Given the description of an element on the screen output the (x, y) to click on. 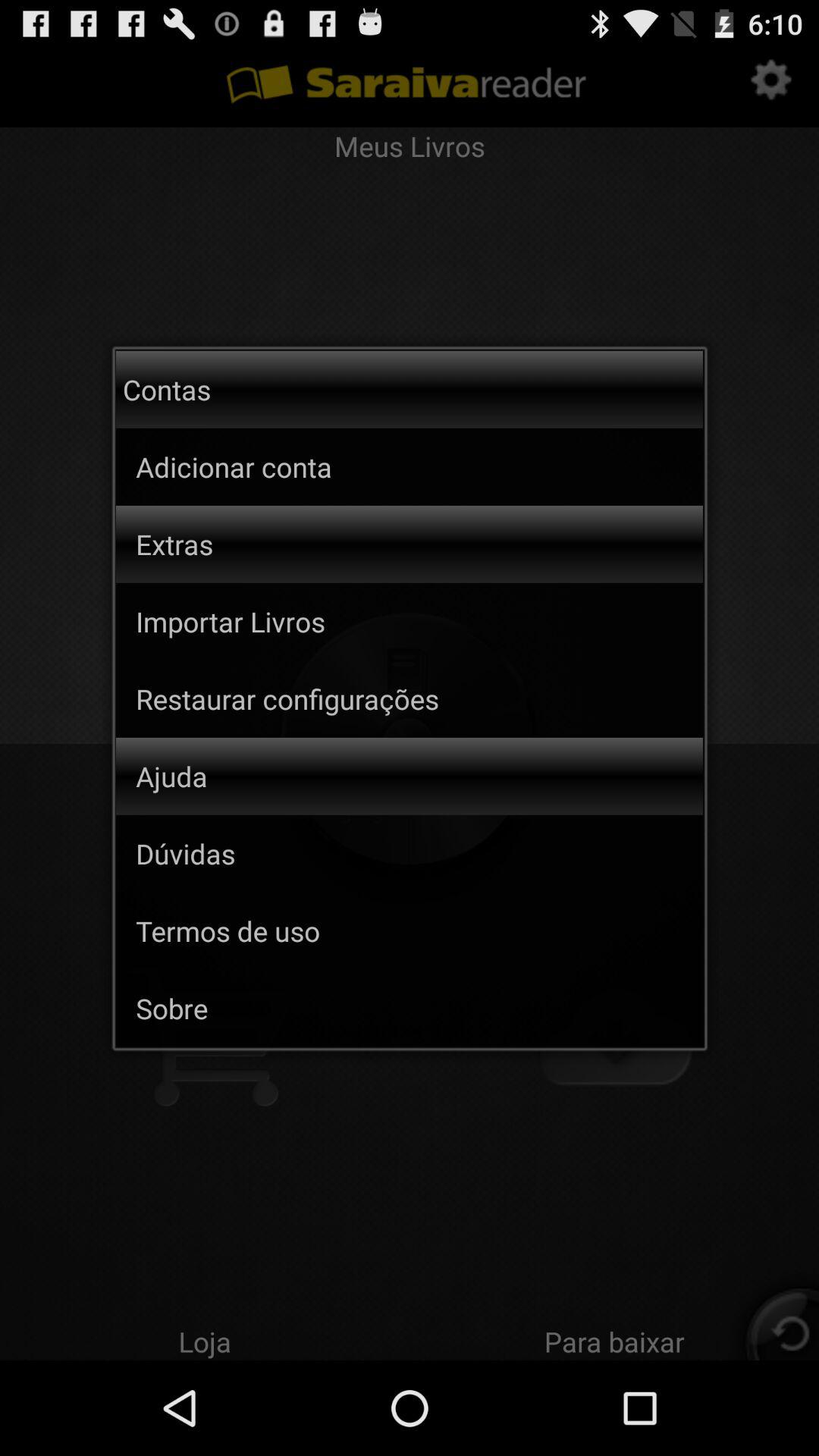
open adicionar conta                   icon (295, 466)
